Given the description of an element on the screen output the (x, y) to click on. 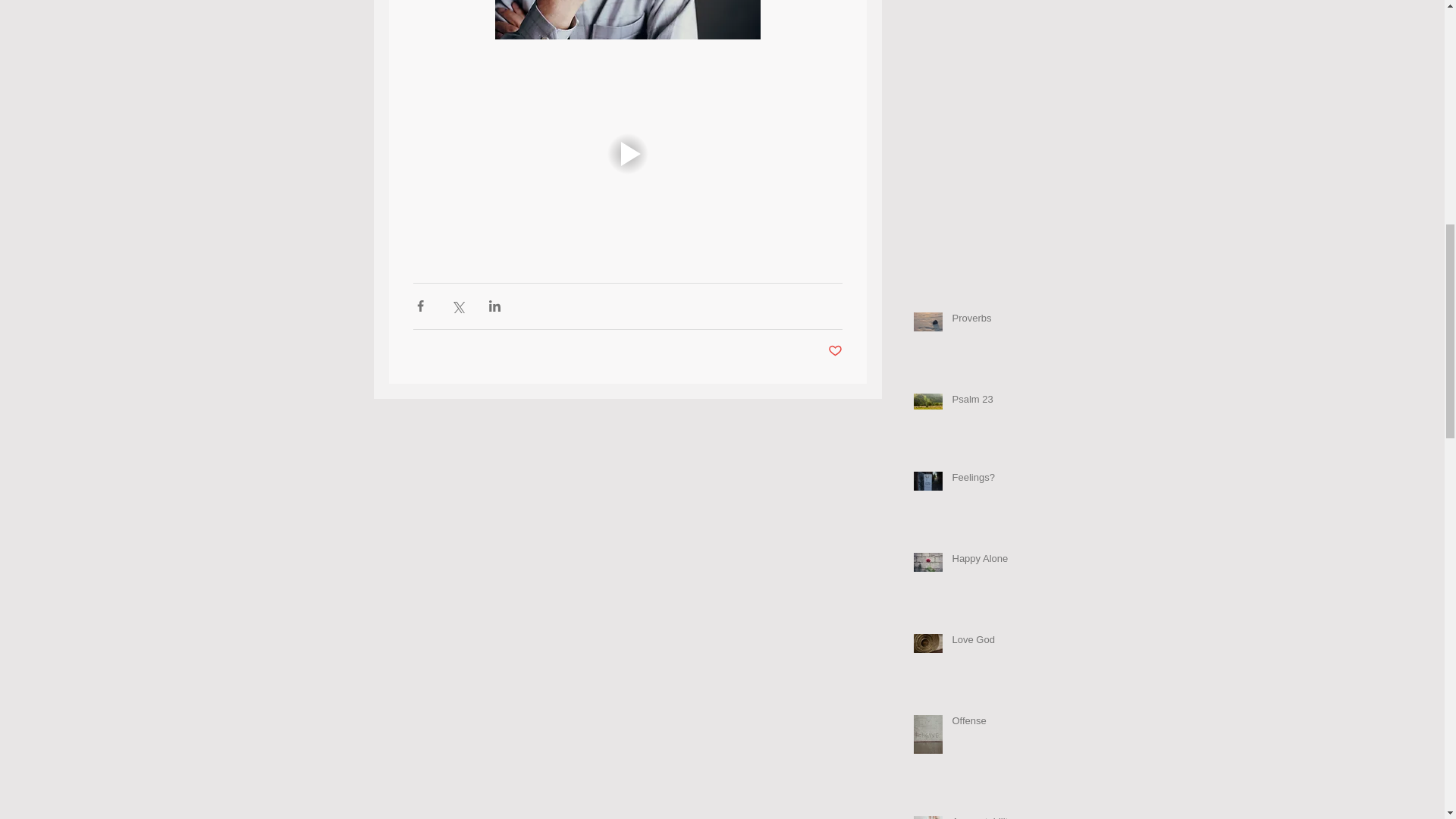
Love God (1006, 642)
Feelings? (1006, 480)
Offense (1006, 723)
Accountability (1006, 816)
Post not marked as liked (835, 351)
Psalm 23 (1006, 402)
Happy Alone (1006, 561)
Proverbs (1006, 321)
